Given the description of an element on the screen output the (x, y) to click on. 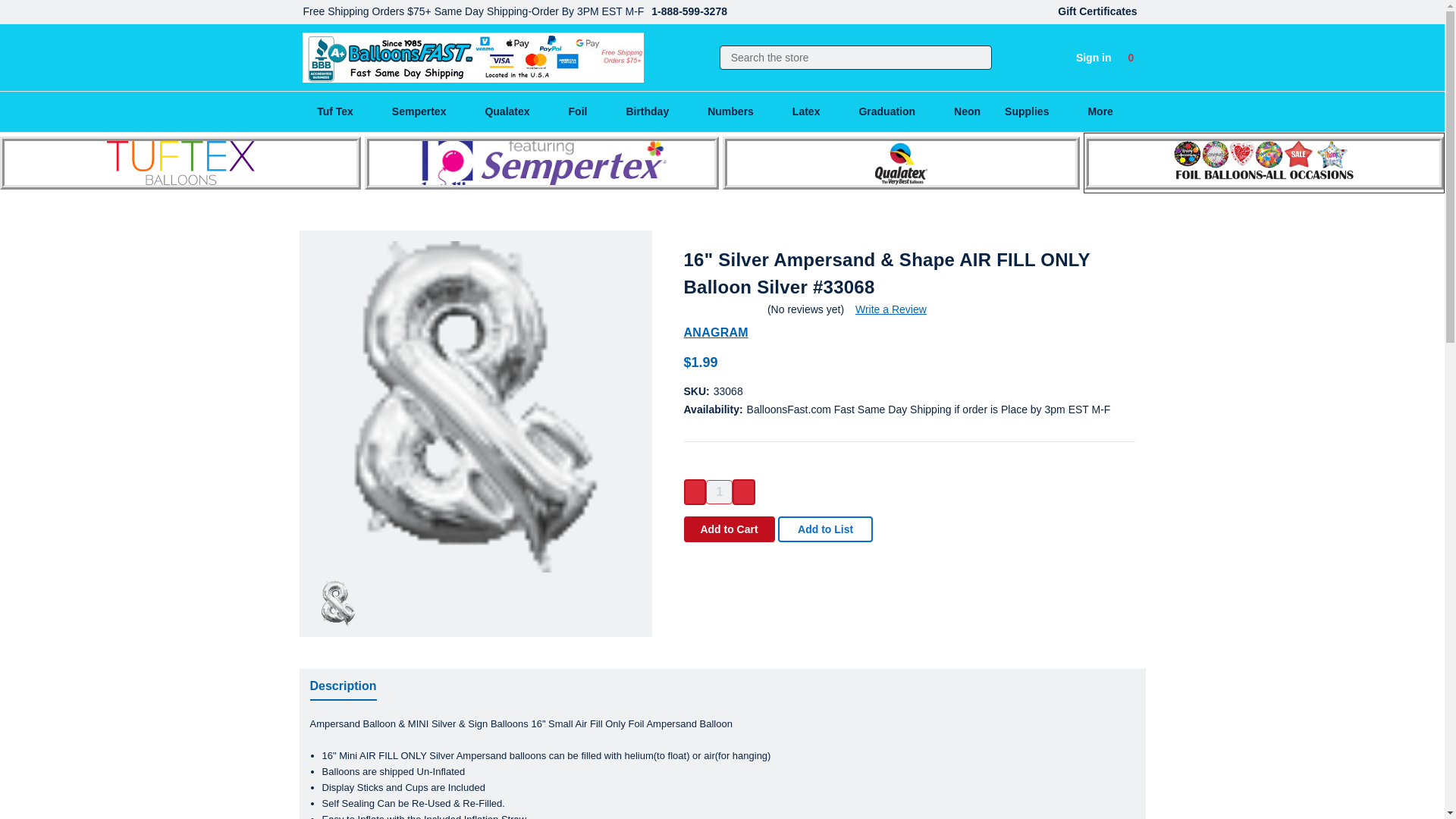
Add to Cart (729, 529)
Sign in (1093, 57)
Tuf Tex (342, 111)
ampersand balloon (338, 603)
0 (1130, 57)
1 (719, 491)
ampersand balloon (474, 406)
Gift Certificates (1096, 11)
